Given the description of an element on the screen output the (x, y) to click on. 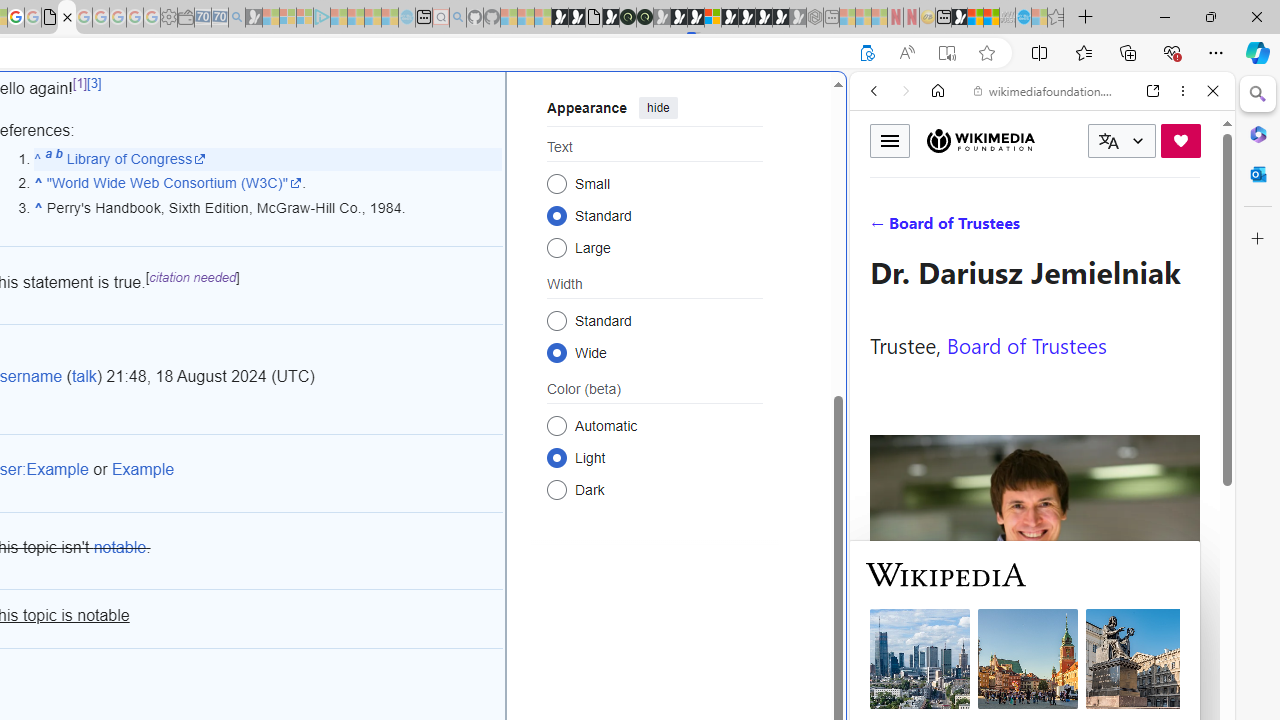
Support Wikipedia? (867, 53)
Small (556, 182)
hide (658, 107)
CURRENT LANGUAGE: (1121, 141)
